Given the description of an element on the screen output the (x, y) to click on. 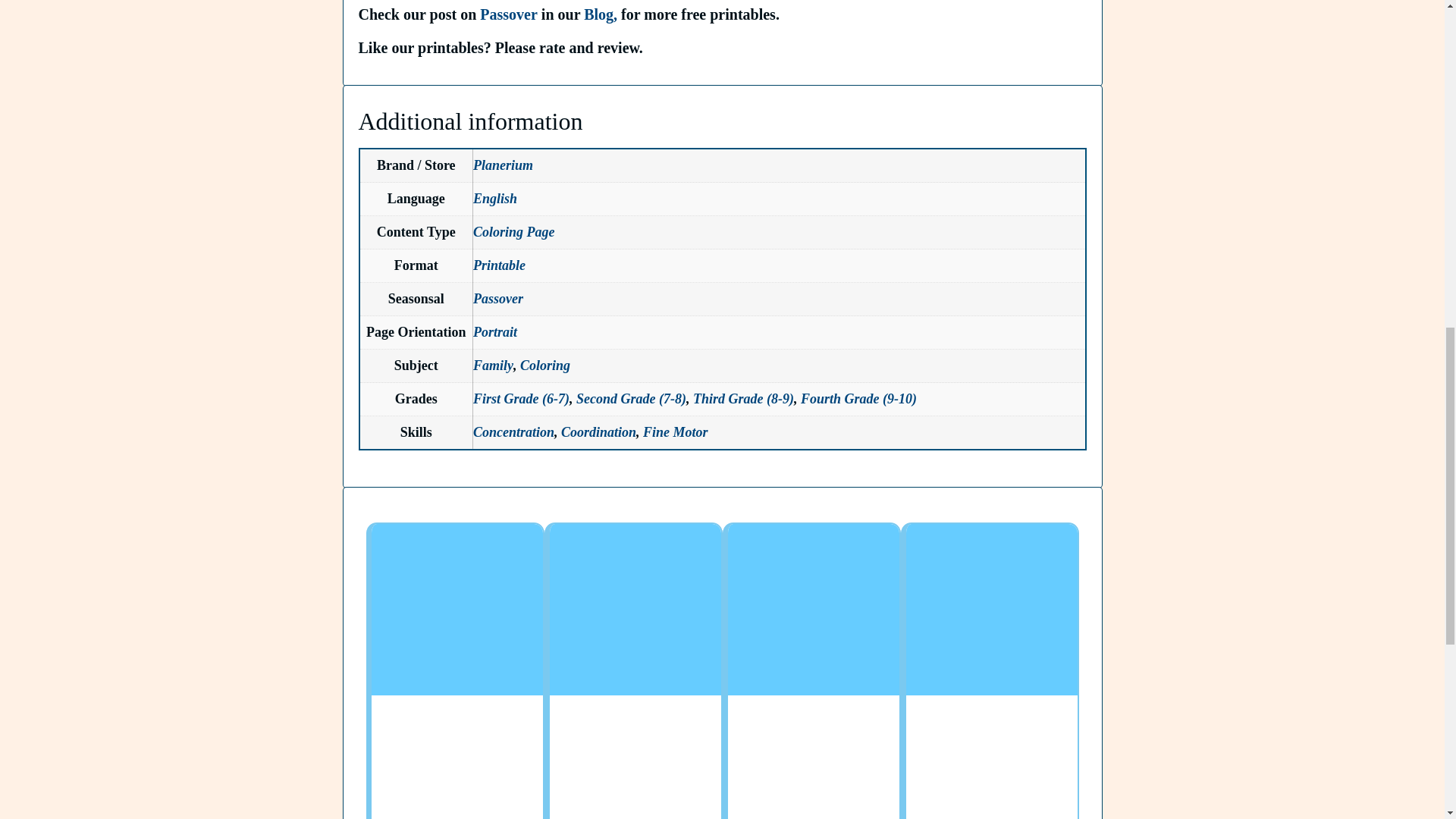
Passover (508, 13)
